Given the description of an element on the screen output the (x, y) to click on. 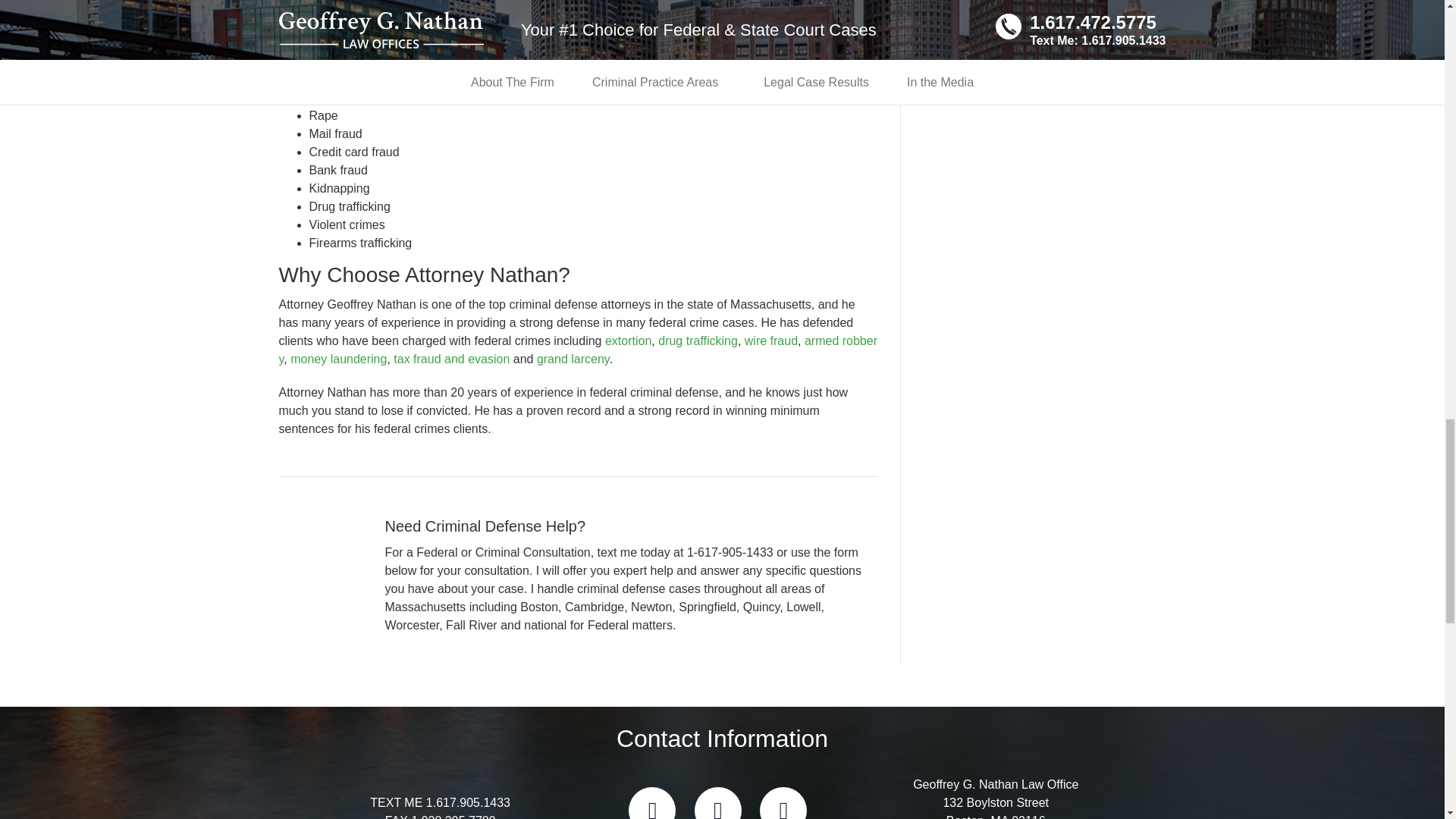
extortion (627, 340)
